Given the description of an element on the screen output the (x, y) to click on. 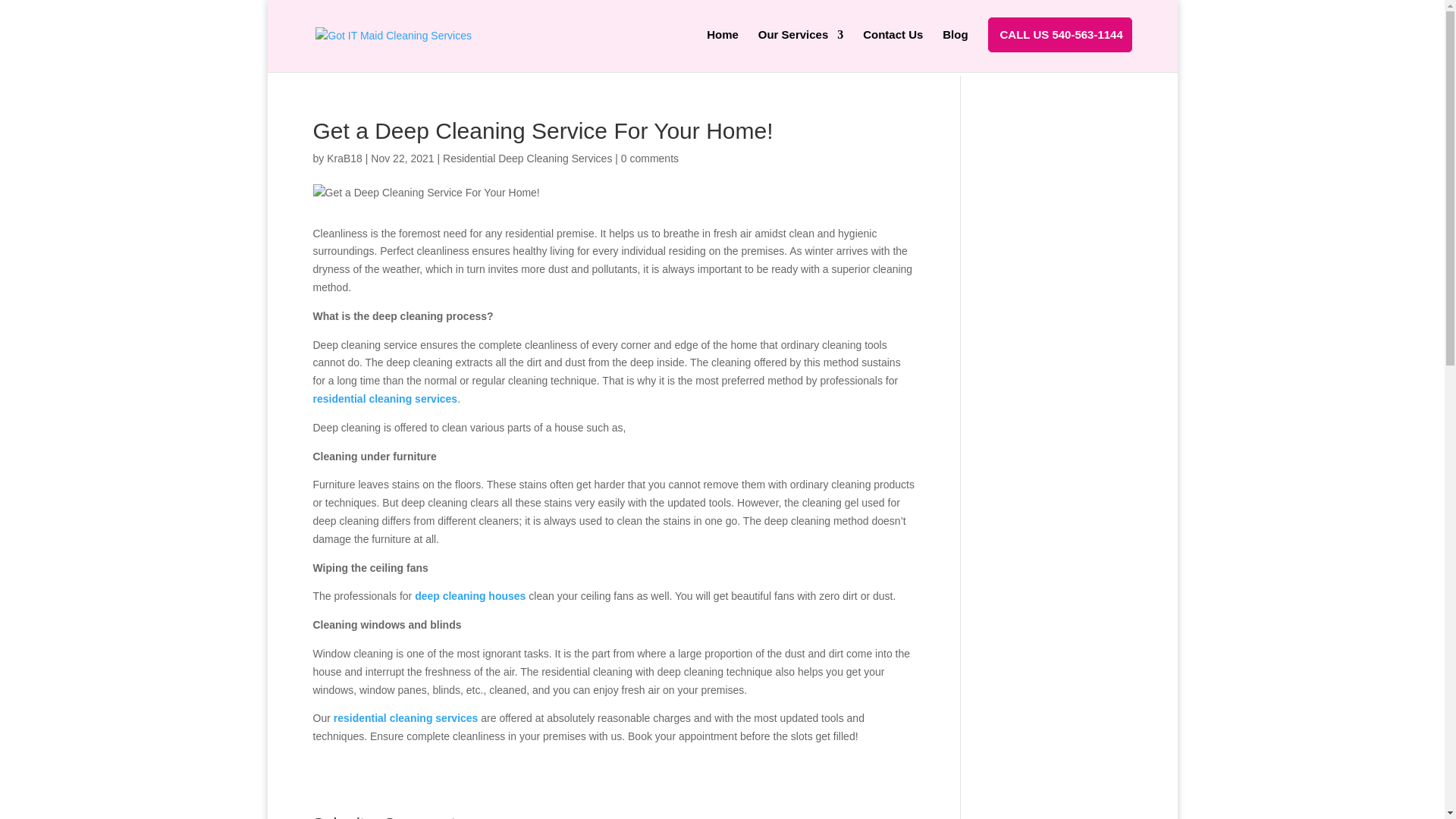
KraB18 (344, 158)
Our Services (801, 47)
Posts by KraB18 (344, 158)
Contact Us (893, 47)
CALL US 540-563-1144 (1064, 47)
residential cleaning services (406, 717)
Home (722, 47)
Blog (955, 47)
residential cleaning services (385, 398)
Residential Deep Cleaning Services (526, 158)
0 comments (649, 158)
deep cleaning houses (469, 595)
